Given the description of an element on the screen output the (x, y) to click on. 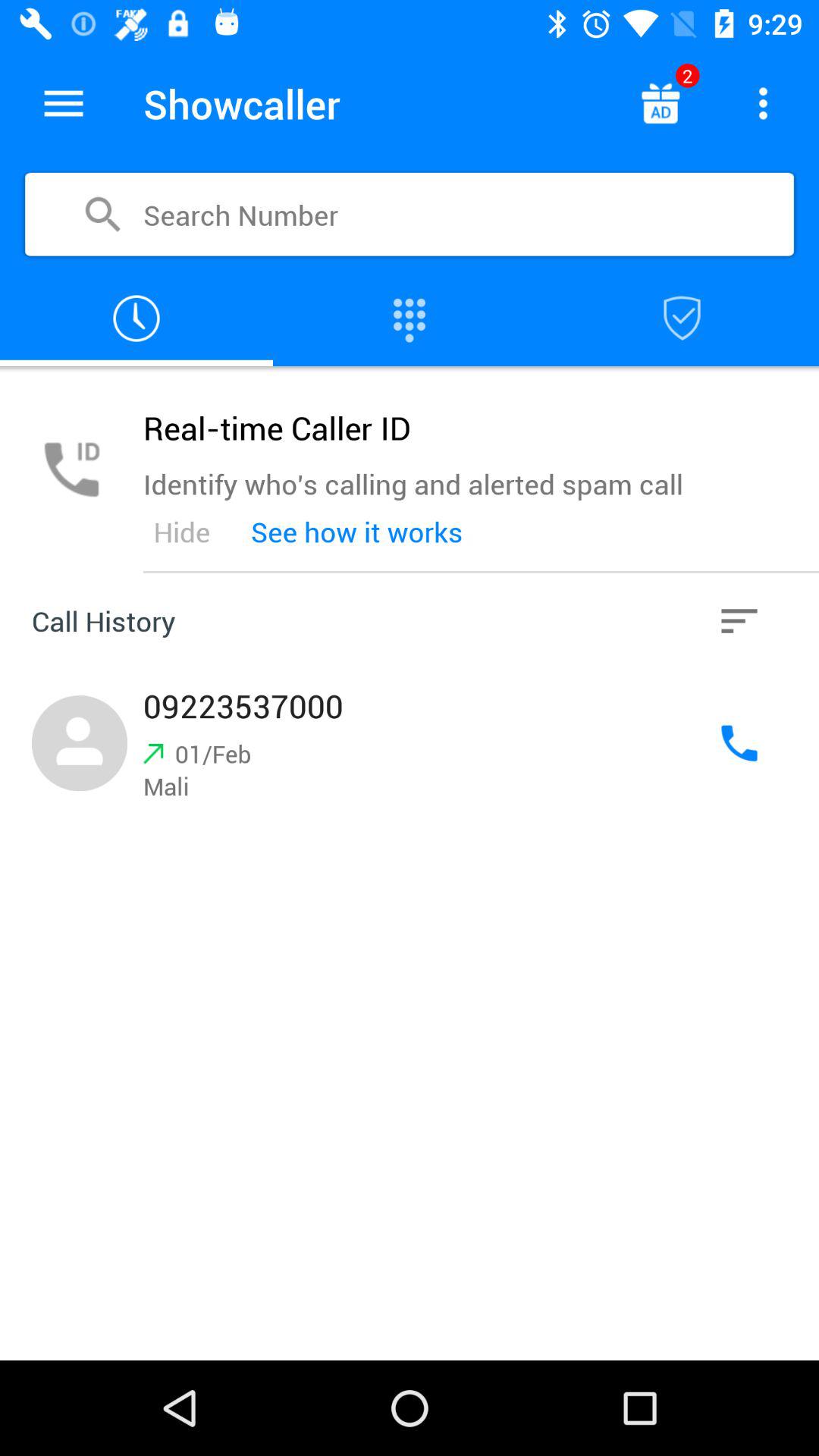
launch the icon to the left of the showcaller icon (63, 103)
